Given the description of an element on the screen output the (x, y) to click on. 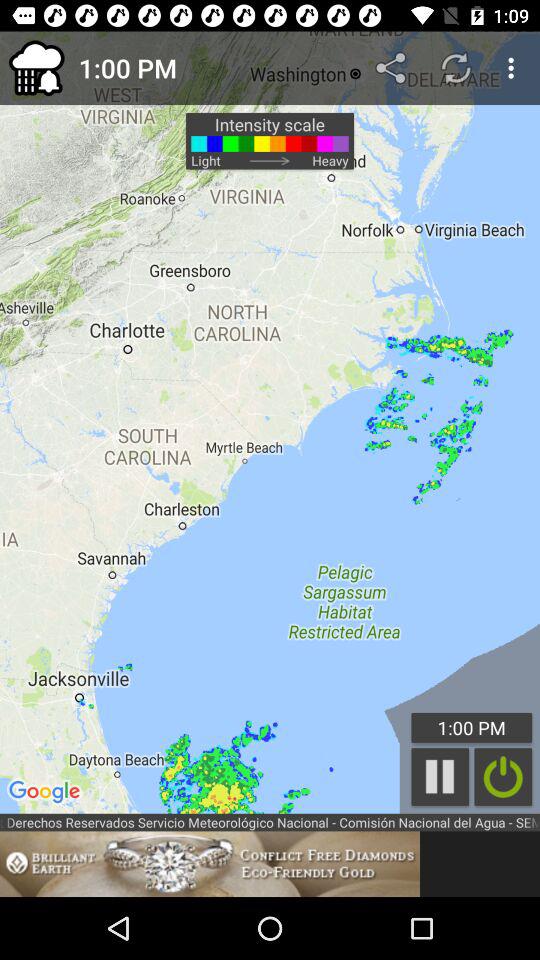
click item to the right of 1:00 pm icon (392, 67)
